Given the description of an element on the screen output the (x, y) to click on. 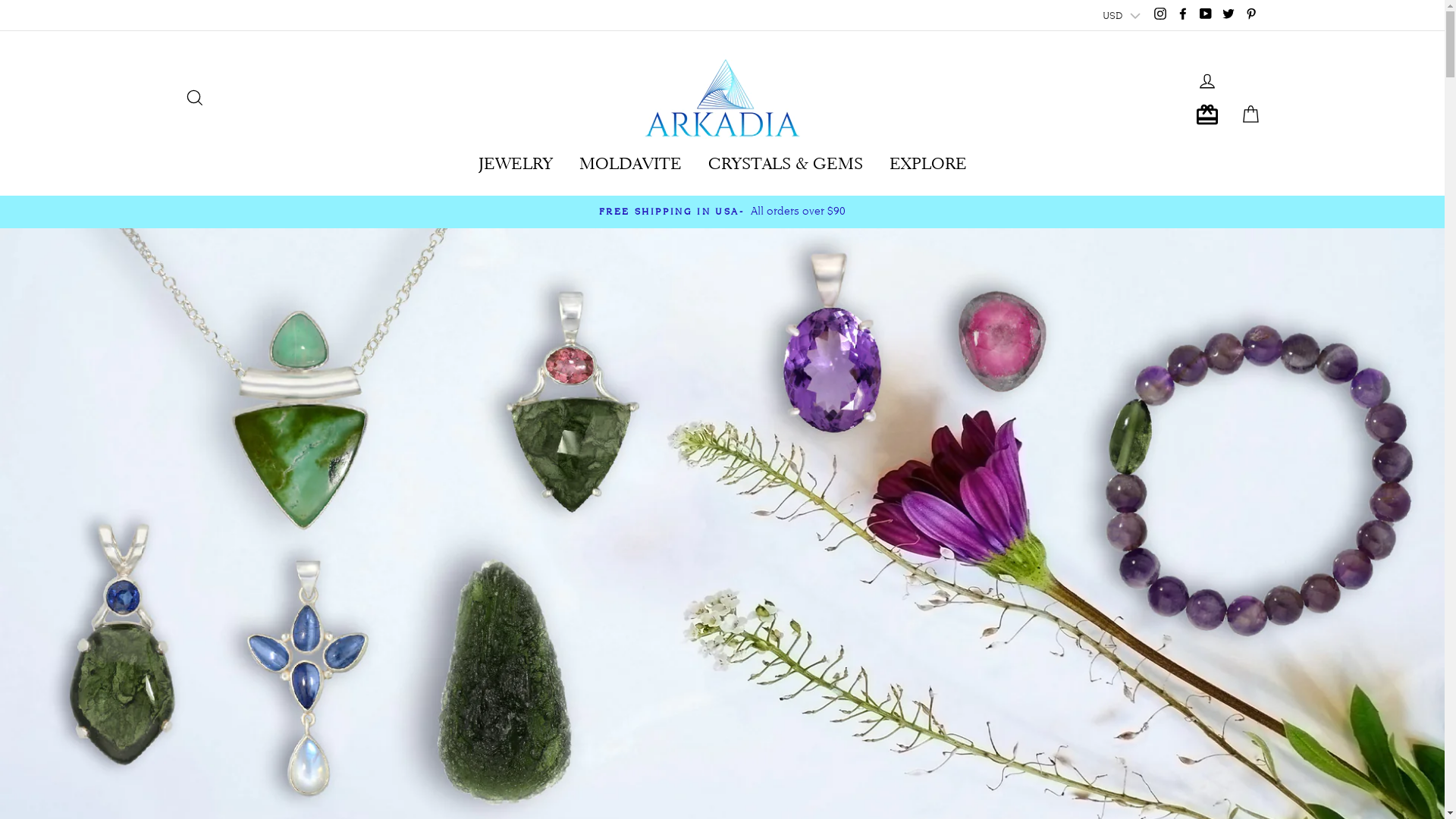
CART Element type: text (1249, 108)
JEWELRY Element type: text (515, 158)
LOG IN Element type: text (1206, 73)
Twitter Element type: text (1227, 12)
Instagram Element type: text (1159, 12)
MOLDAVITE Element type: text (629, 158)
Pinterest Element type: text (1250, 12)
CRYSTALS & GEMS Element type: text (784, 158)
EXPLORE Element type: text (928, 158)
YouTube Element type: text (1204, 12)
SEARCH Element type: text (193, 91)
Facebook Element type: text (1182, 12)
Skip to content Element type: text (0, 0)
